Given the description of an element on the screen output the (x, y) to click on. 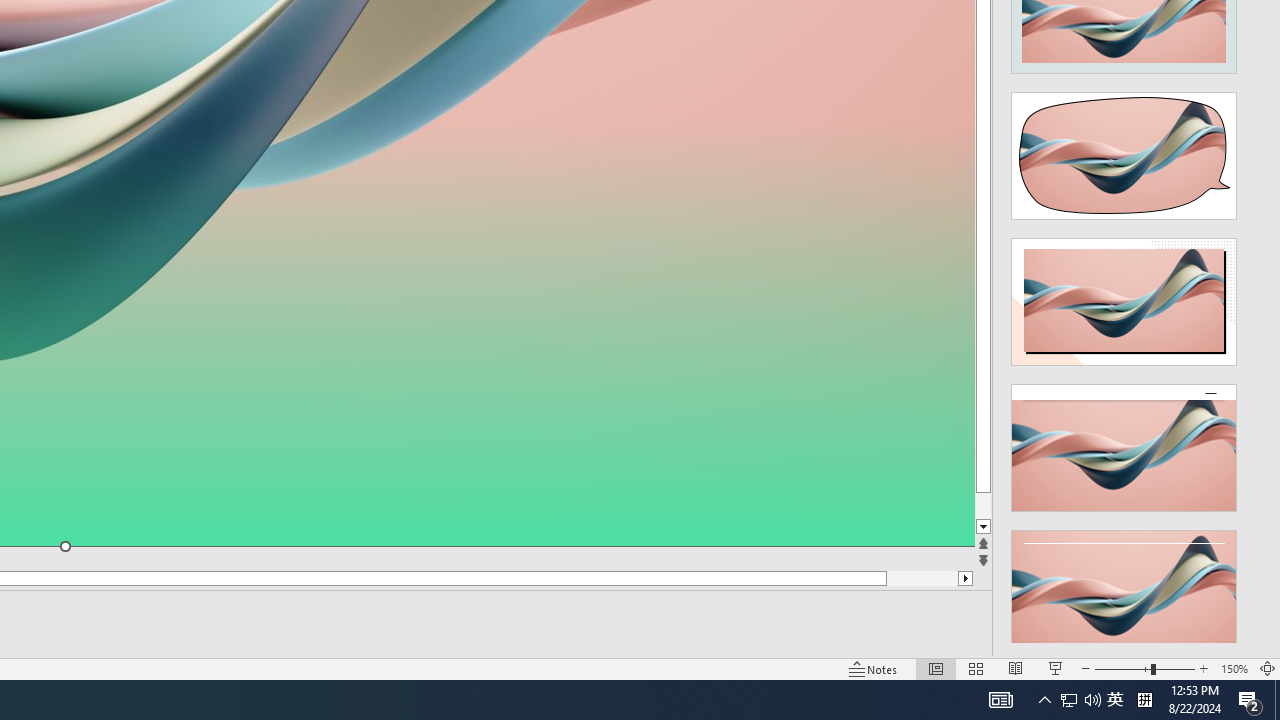
Zoom 150% (1234, 668)
